Given the description of an element on the screen output the (x, y) to click on. 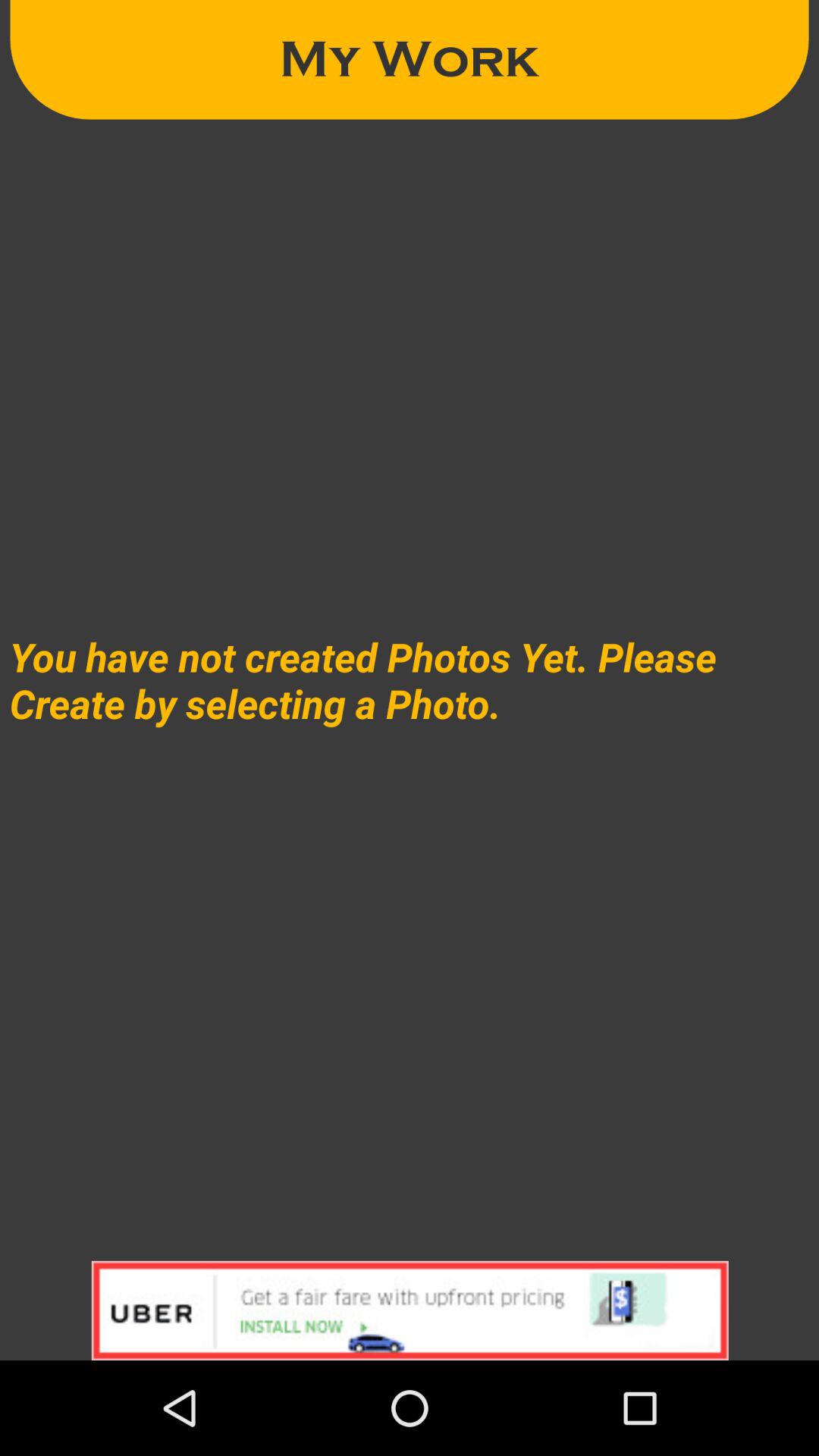
choose the item at the bottom (409, 1310)
